Given the description of an element on the screen output the (x, y) to click on. 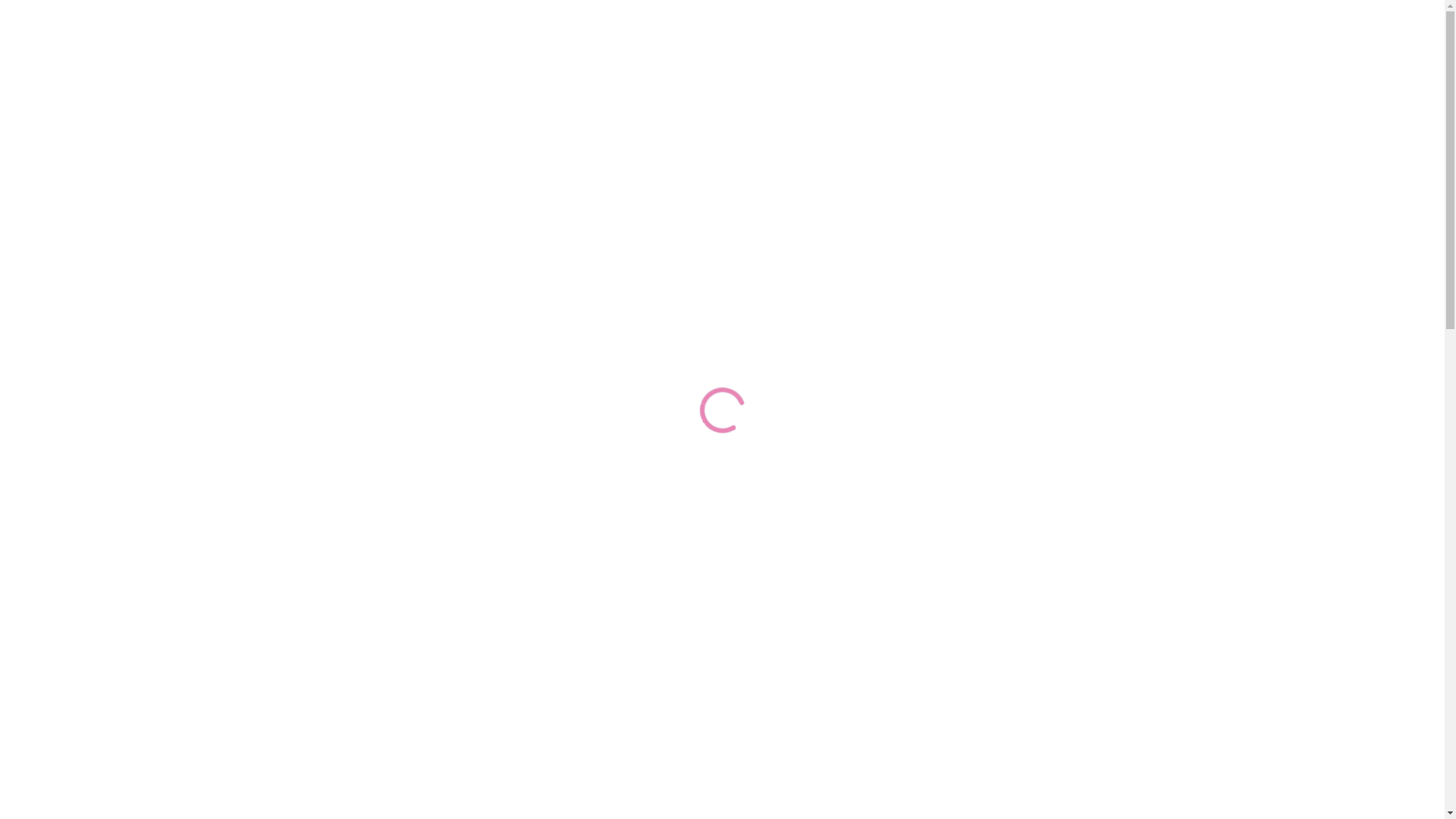
Nos Marques Element type: text (296, 488)
Nos Marques Element type: text (606, 141)
Accueil Element type: text (204, 386)
Saisonnier Element type: text (852, 141)
Pots Element type: text (311, 661)
Permanent Element type: text (733, 141)
Sweet Party Element type: text (303, 721)
Crack Ups Element type: text (303, 575)
Saisonnier Element type: text (277, 386)
Sachets Element type: text (311, 690)
Contact Element type: text (956, 140)
Cup Element type: text (311, 779)
Elisabeth Element type: text (303, 604)
Cadeau Element type: text (311, 750)
Accueil Element type: text (348, 140)
Notre Savoir-Faire Element type: text (464, 140)
FR Element type: text (1048, 140)
Cocktail Candy Element type: text (303, 517)
Couille de Singe Element type: text (303, 546)
Display Element type: text (311, 633)
